Given the description of an element on the screen output the (x, y) to click on. 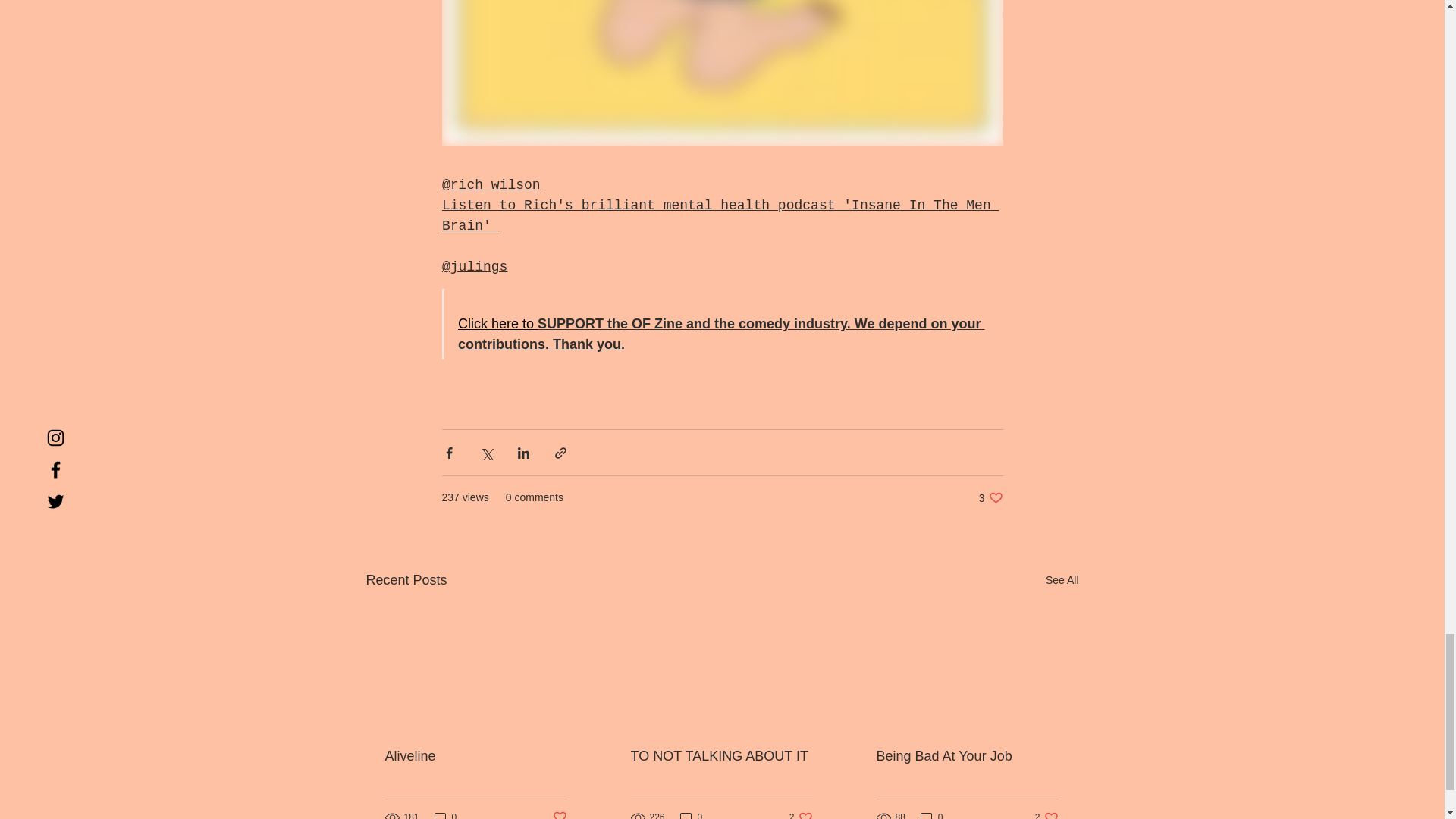
Being Bad At Your Job (967, 756)
Post not marked as liked (558, 814)
See All (1061, 580)
0 (445, 814)
0 (931, 814)
0 (691, 814)
TO NOT TALKING ABOUT IT (721, 756)
